Given the description of an element on the screen output the (x, y) to click on. 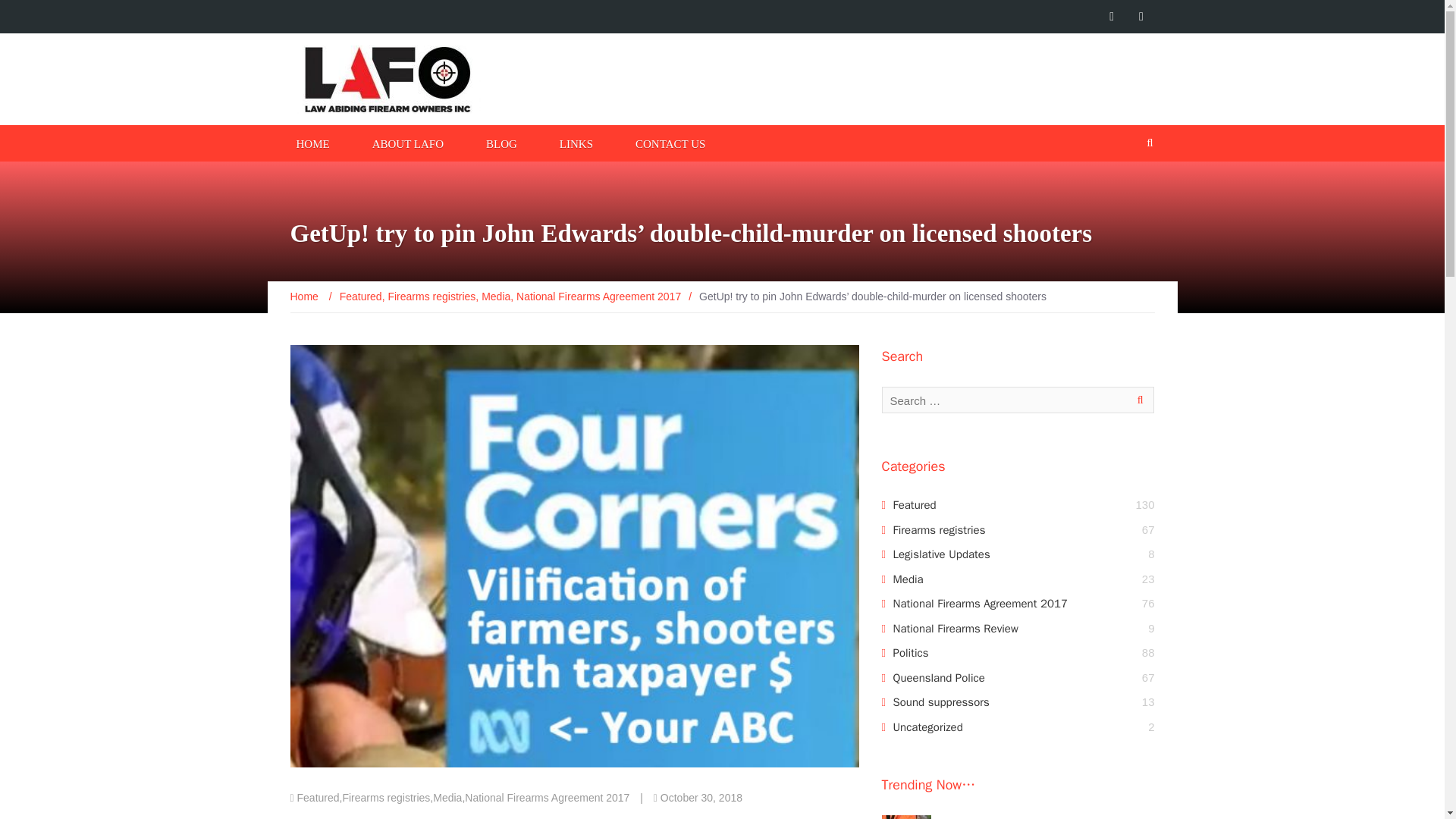
Featured (318, 797)
National Firearms Review (955, 628)
Legislative Updates (941, 554)
Search (1136, 399)
CONTACT US (669, 142)
Politics (910, 653)
Search (1136, 399)
Queensland Police (939, 677)
BLOG (501, 142)
Media (908, 579)
ABOUT LAFO (407, 142)
Firearms registries (939, 530)
Home (304, 296)
Media (446, 797)
Search (1136, 399)
